Given the description of an element on the screen output the (x, y) to click on. 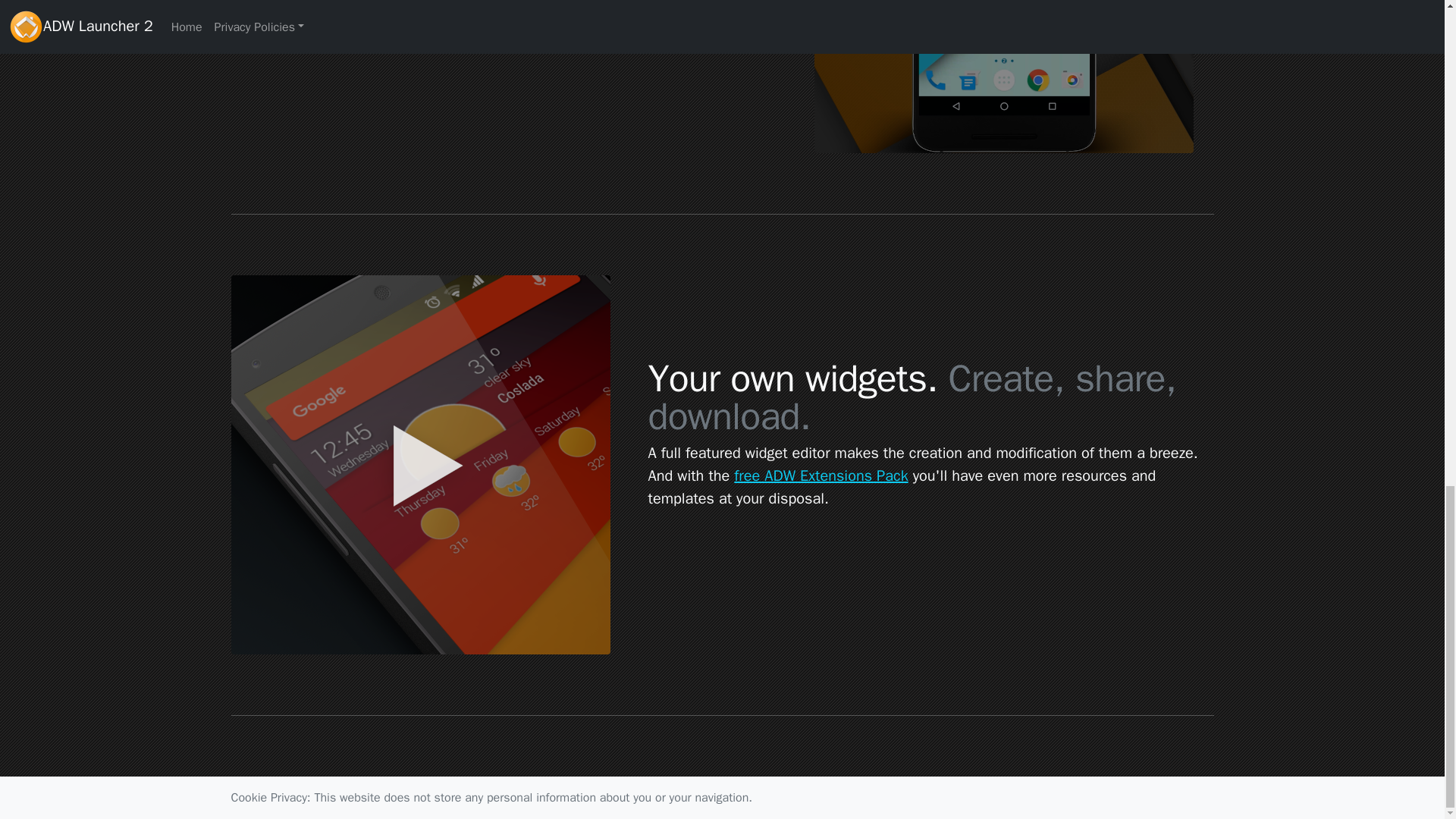
free ADW Extensions Pack (820, 475)
Play Video (1003, 76)
Get ADW Extensions Pack on Google Play (820, 475)
